Given the description of an element on the screen output the (x, y) to click on. 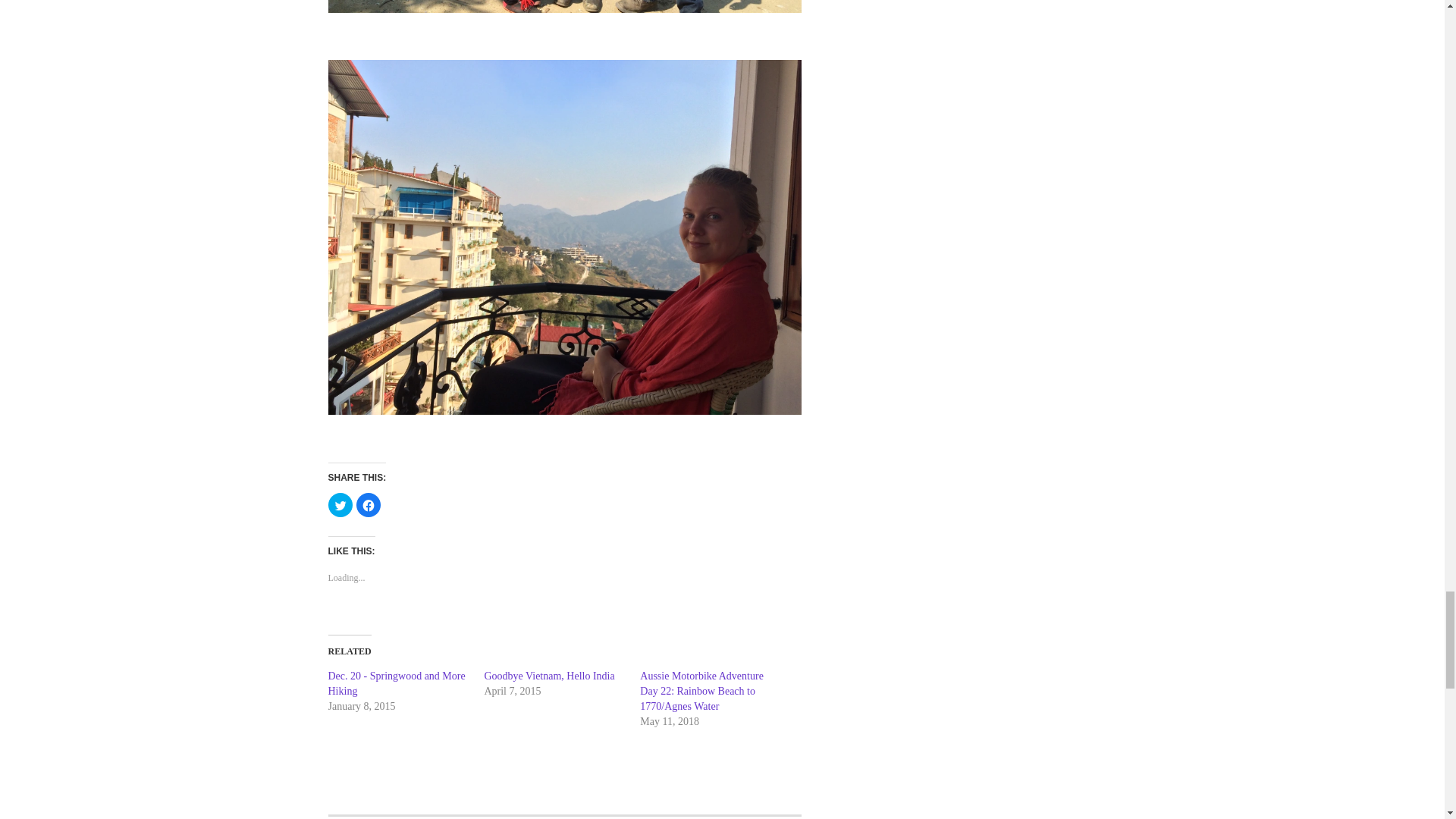
Dec. 20 - Springwood and More Hiking (395, 683)
Goodbye Vietnam, Hello India (548, 675)
Goodbye Vietnam, Hello India (548, 675)
Dec. 20 - Springwood and More Hiking (395, 683)
Click to share on Twitter (339, 504)
Click to share on Facebook (368, 504)
